Given the description of an element on the screen output the (x, y) to click on. 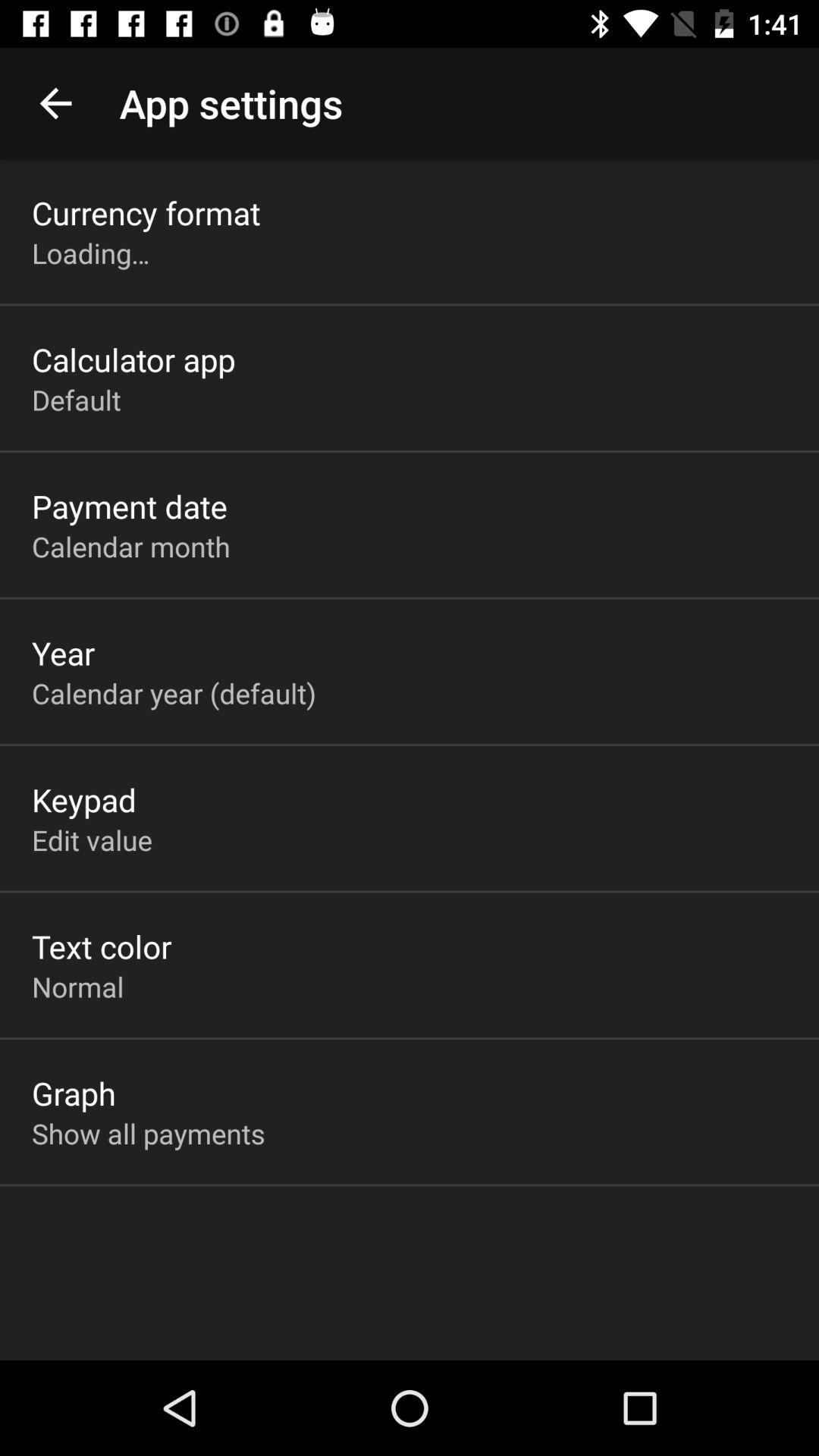
turn off item above the currency format app (55, 103)
